Given the description of an element on the screen output the (x, y) to click on. 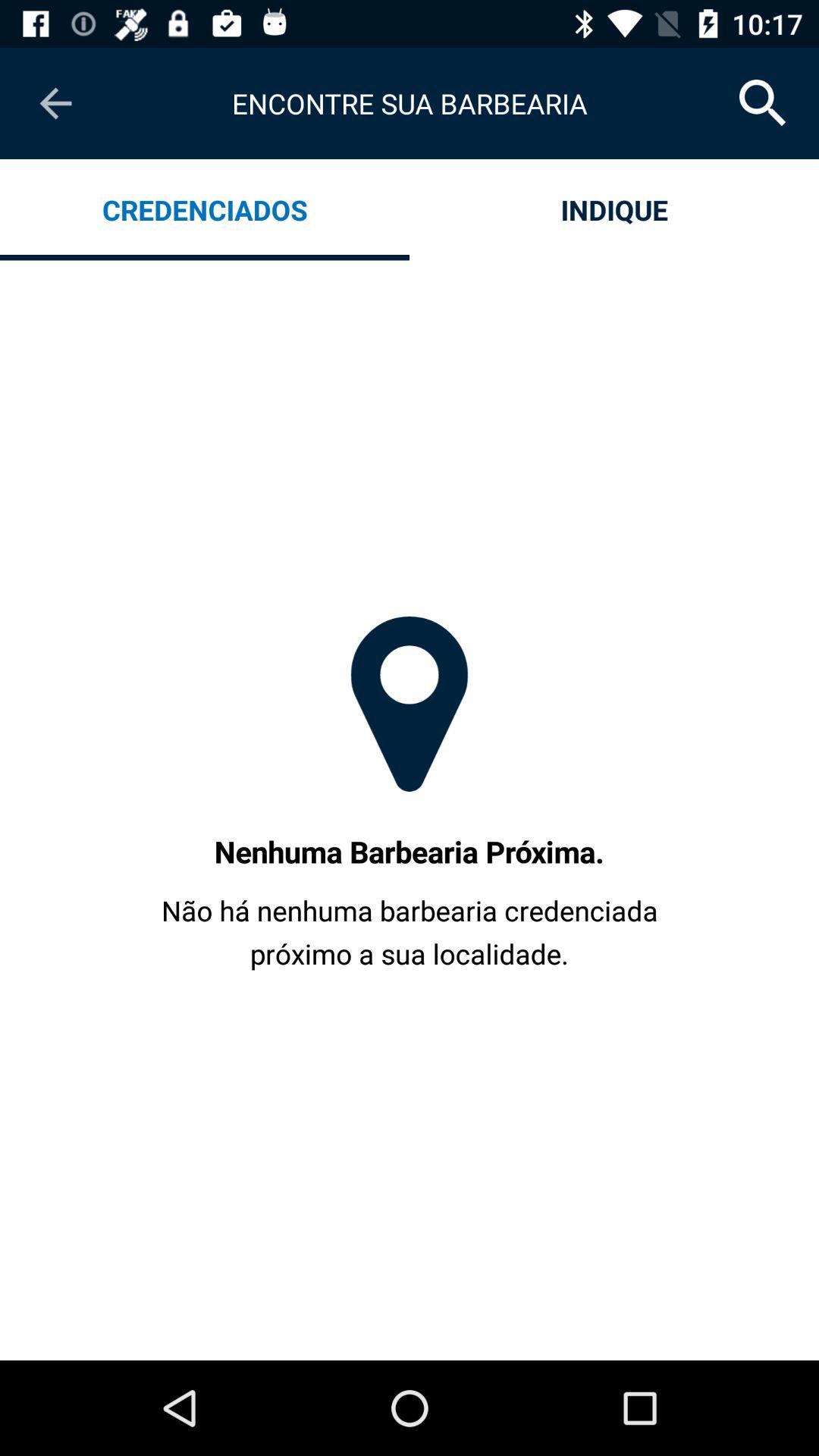
scroll until the indique (614, 209)
